Given the description of an element on the screen output the (x, y) to click on. 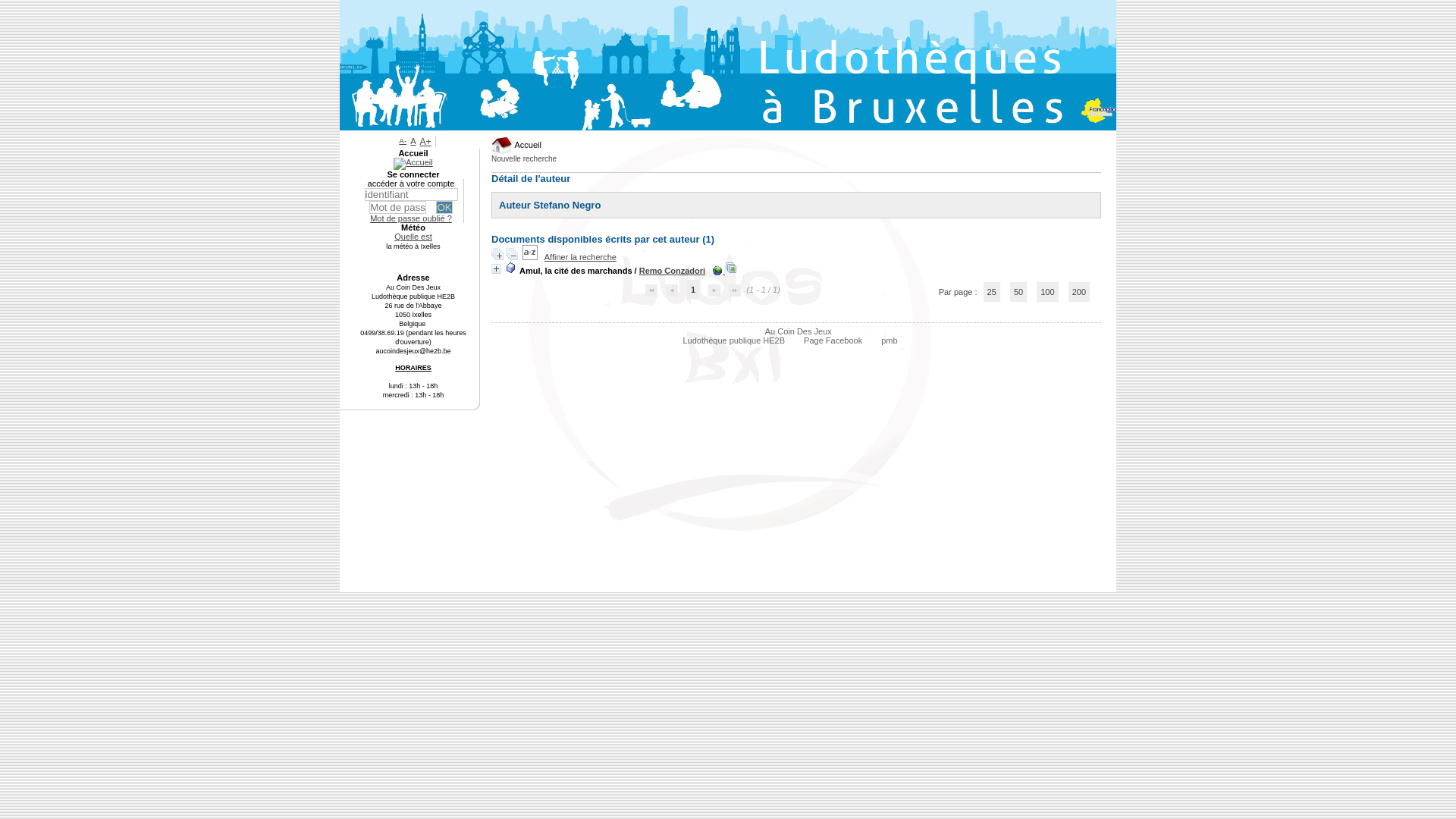
A Element type: text (412, 140)
25 Element type: text (991, 291)
Nouvelle recherche Element type: text (527, 158)
100 Element type: text (1046, 291)
Ouvrir le lien  Element type: hover (717, 270)
A+ Element type: text (425, 141)
200 Element type: text (1078, 291)
pmb Element type: text (895, 340)
Page Facebook Element type: text (838, 340)
Tris disponibles Element type: hover (530, 256)
Affiner la recherche Element type: text (580, 256)
A- Element type: text (402, 140)
Accueil Element type: text (412, 152)
Accueil Element type: text (516, 144)
ok Element type: text (443, 206)
Quelle est Element type: text (413, 236)
Remo Conzadori Element type: text (672, 270)
50 Element type: text (1018, 291)
